Given the description of an element on the screen output the (x, y) to click on. 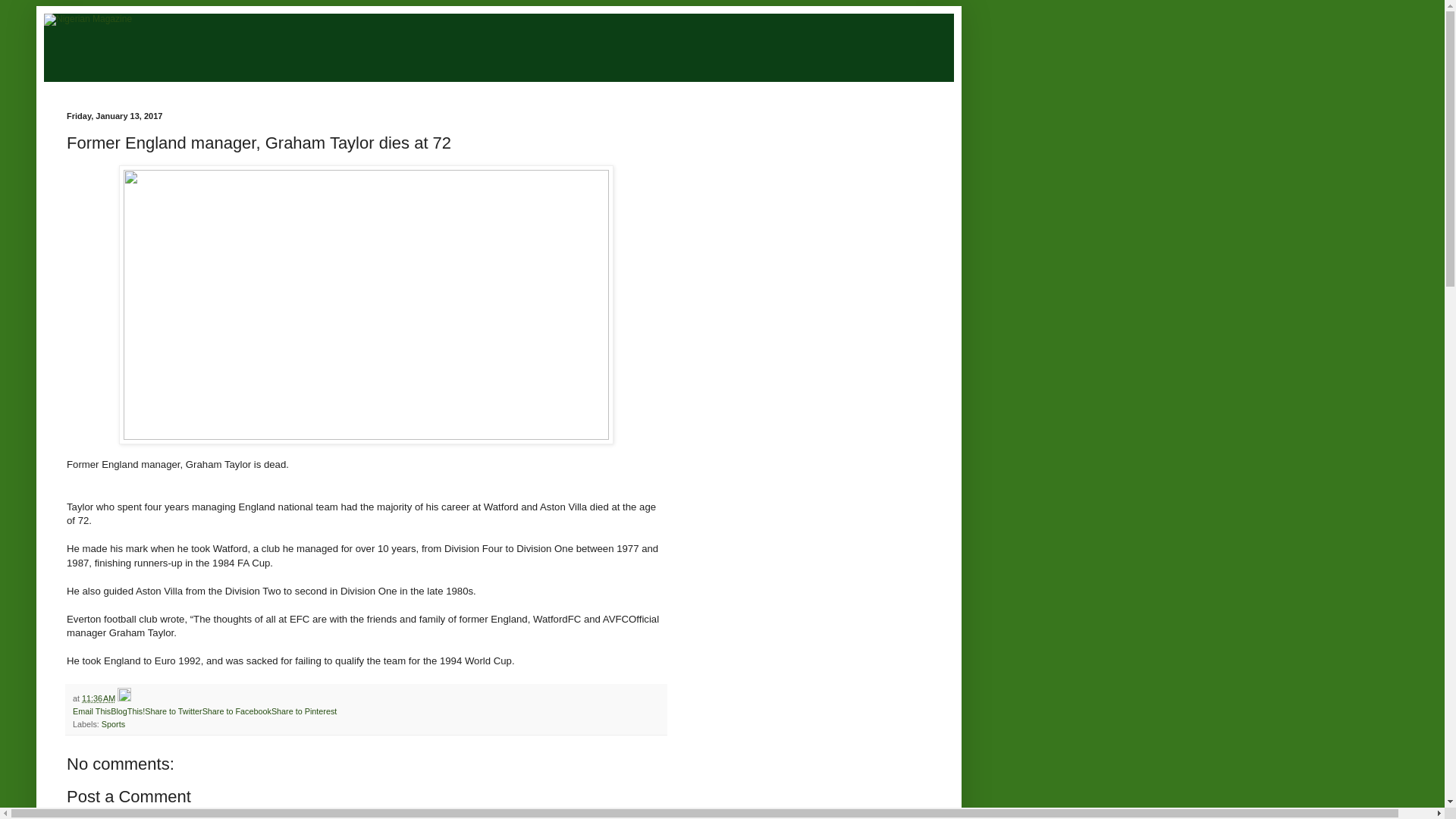
Email This (91, 710)
BlogThis! (127, 710)
Share to Facebook (236, 710)
permanent link (98, 697)
Edit Post (124, 697)
Sports (113, 723)
Share to Pinterest (303, 710)
Share to Twitter (173, 710)
BlogThis! (127, 710)
Email This (91, 710)
Share to Twitter (173, 710)
Share to Facebook (236, 710)
Share to Pinterest (303, 710)
